Given the description of an element on the screen output the (x, y) to click on. 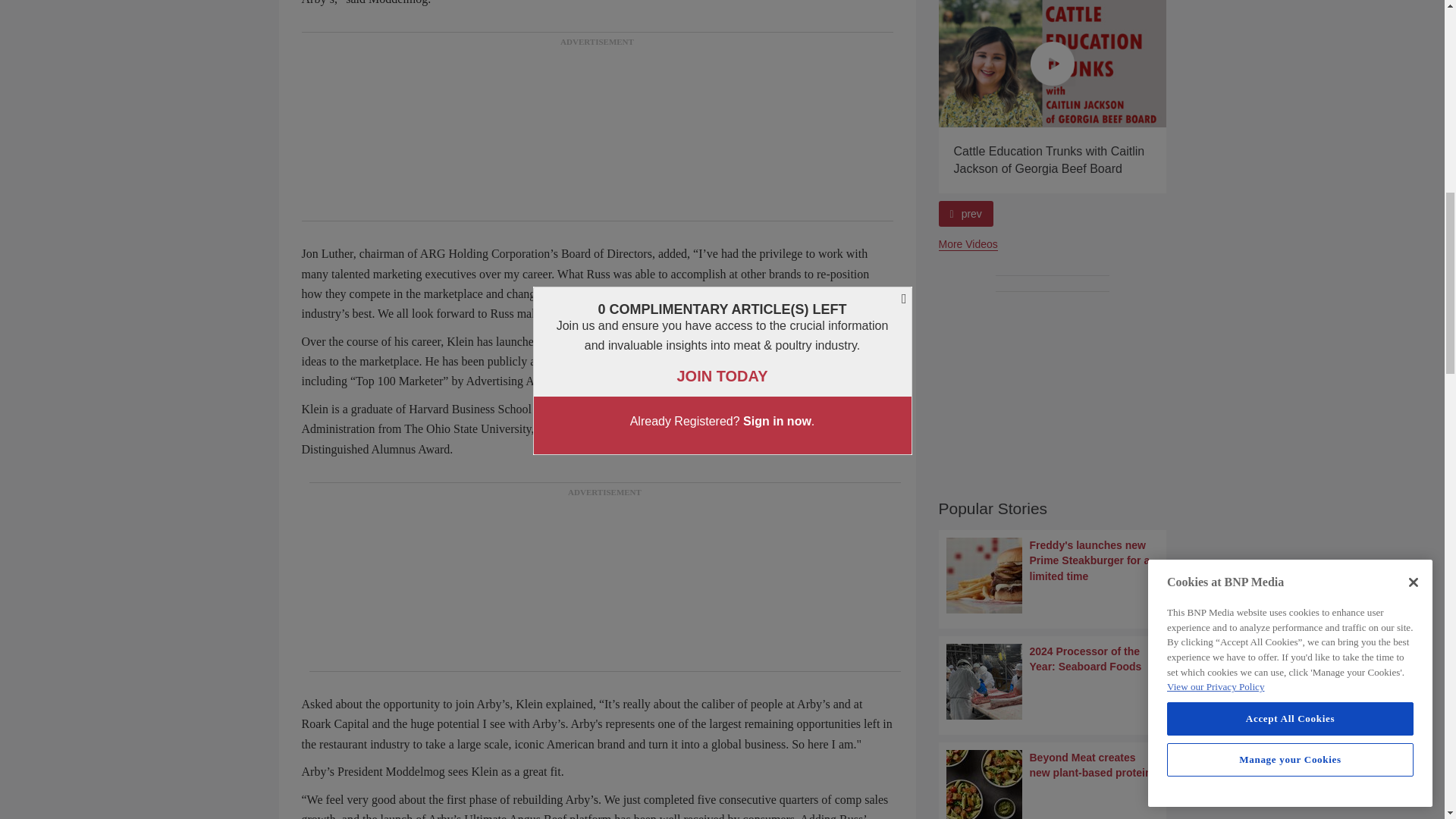
Beyond Meat creates new plant-based protein (1052, 784)
2024 Processor of the Year: Seaboard Foods (1052, 681)
Freddy's launches new Prime Steakburger for a limited time (1052, 575)
